Given the description of an element on the screen output the (x, y) to click on. 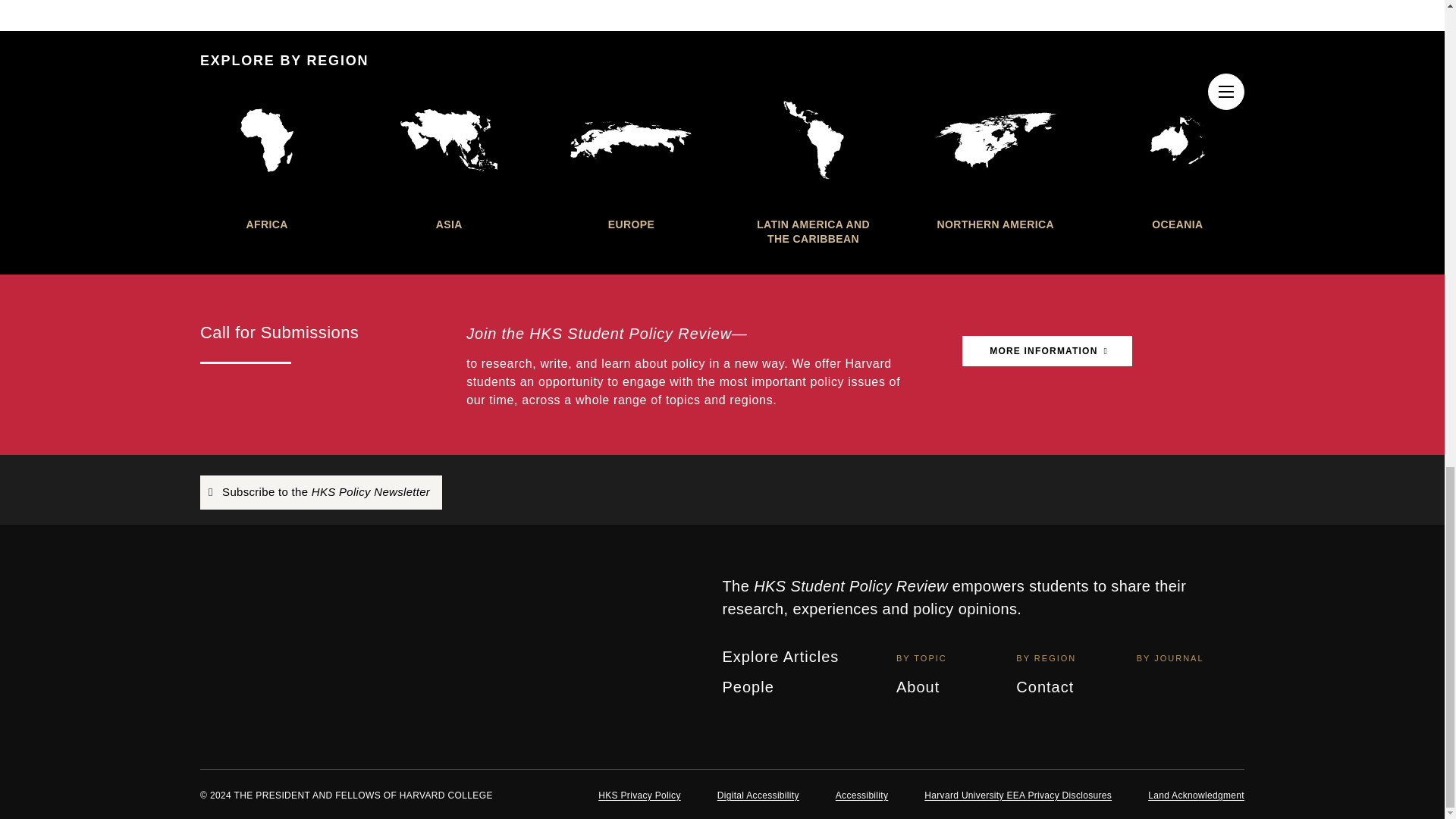
NORTHERN AMERICA (995, 159)
ASIA (448, 159)
AFRICA (266, 159)
EUROPE (630, 159)
